Given the description of an element on the screen output the (x, y) to click on. 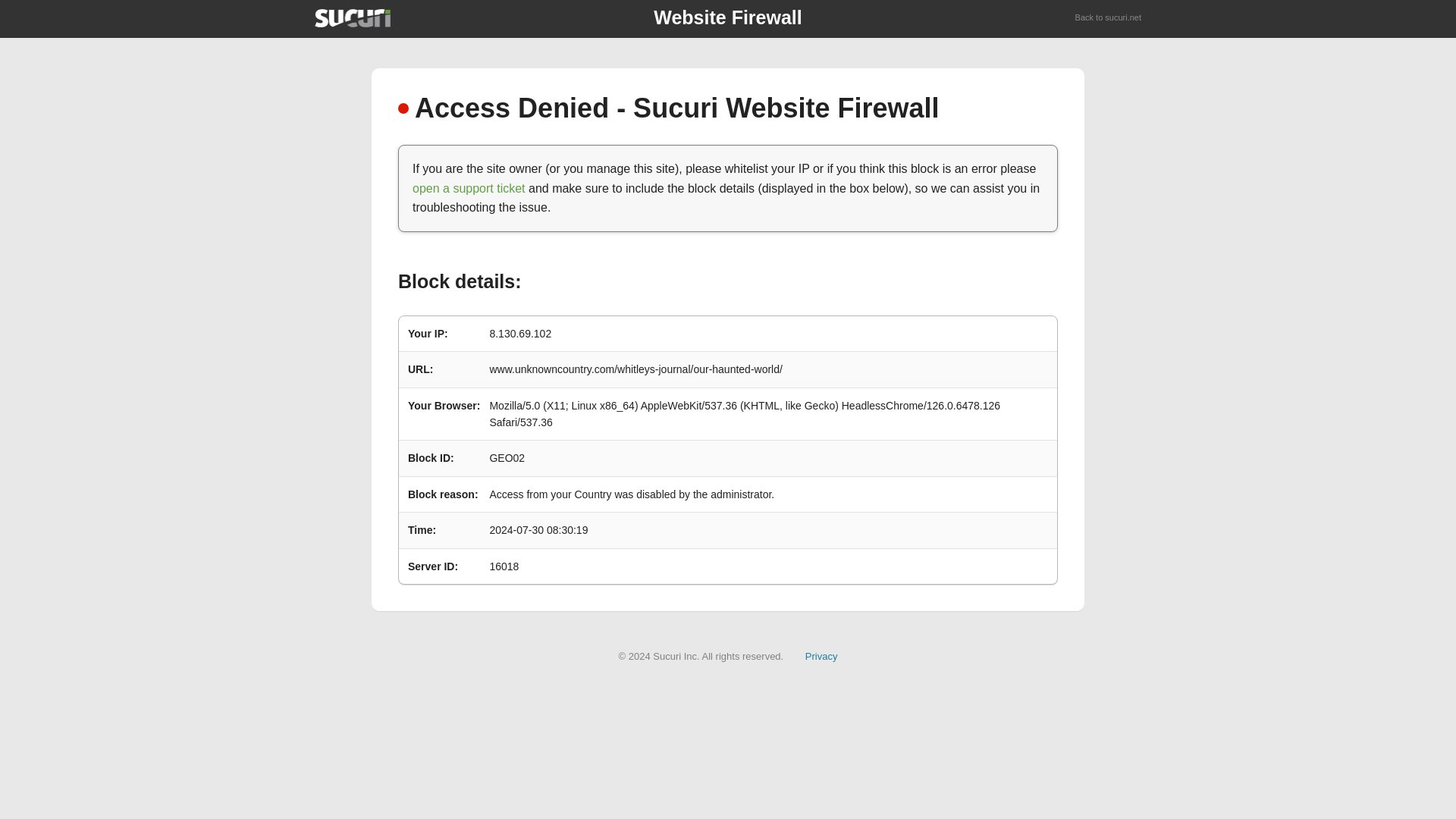
Privacy (821, 655)
Back to sucuri.net (1108, 18)
open a support ticket (468, 187)
